Given the description of an element on the screen output the (x, y) to click on. 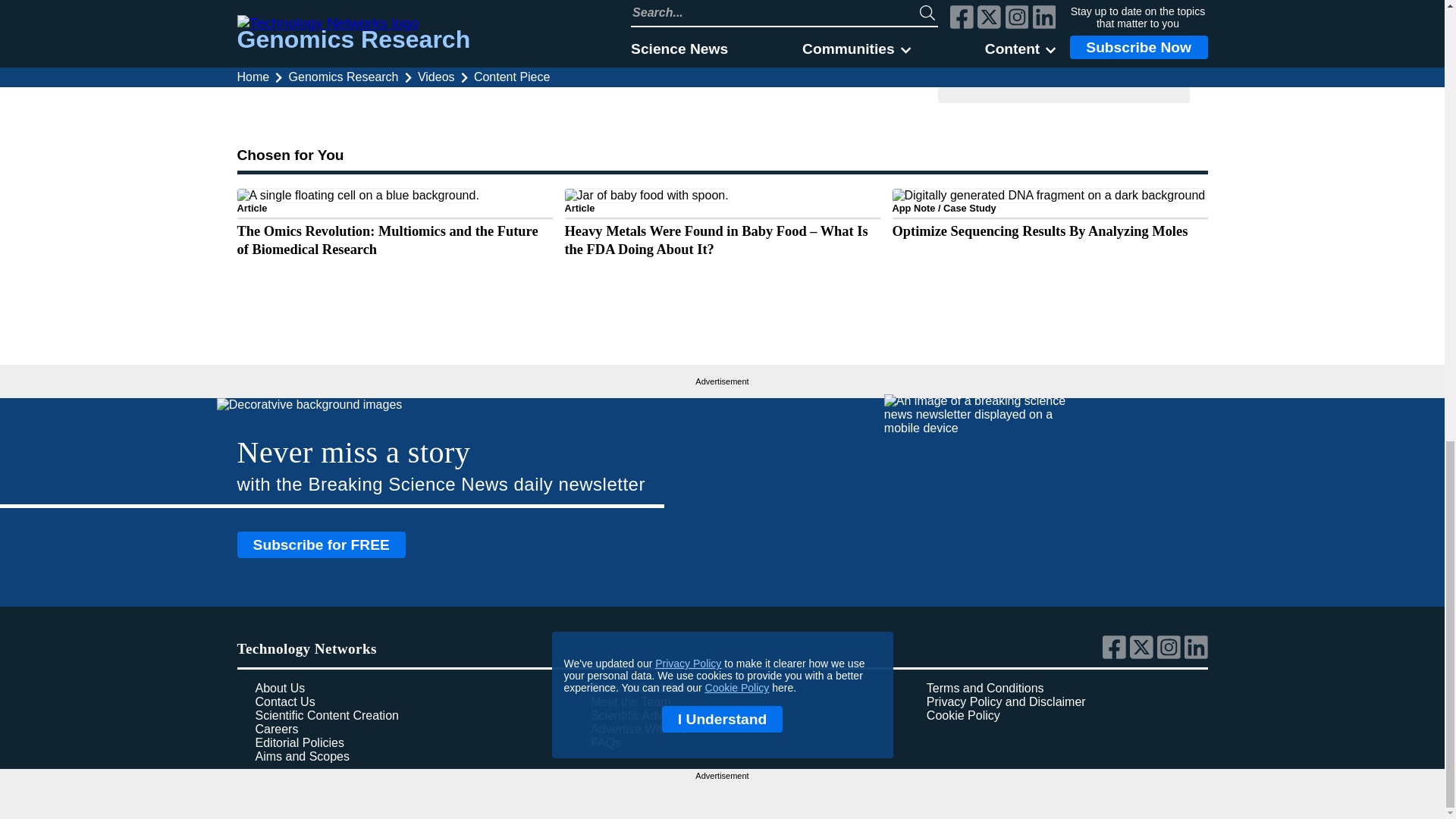
Link to Technology Networks' linkedin page (1196, 655)
Link to Technology Networks' instagram page (1171, 655)
Link to Technology Networks' facebook page (1115, 655)
Link to Technology Networks' twitter page (1143, 655)
